Given the description of an element on the screen output the (x, y) to click on. 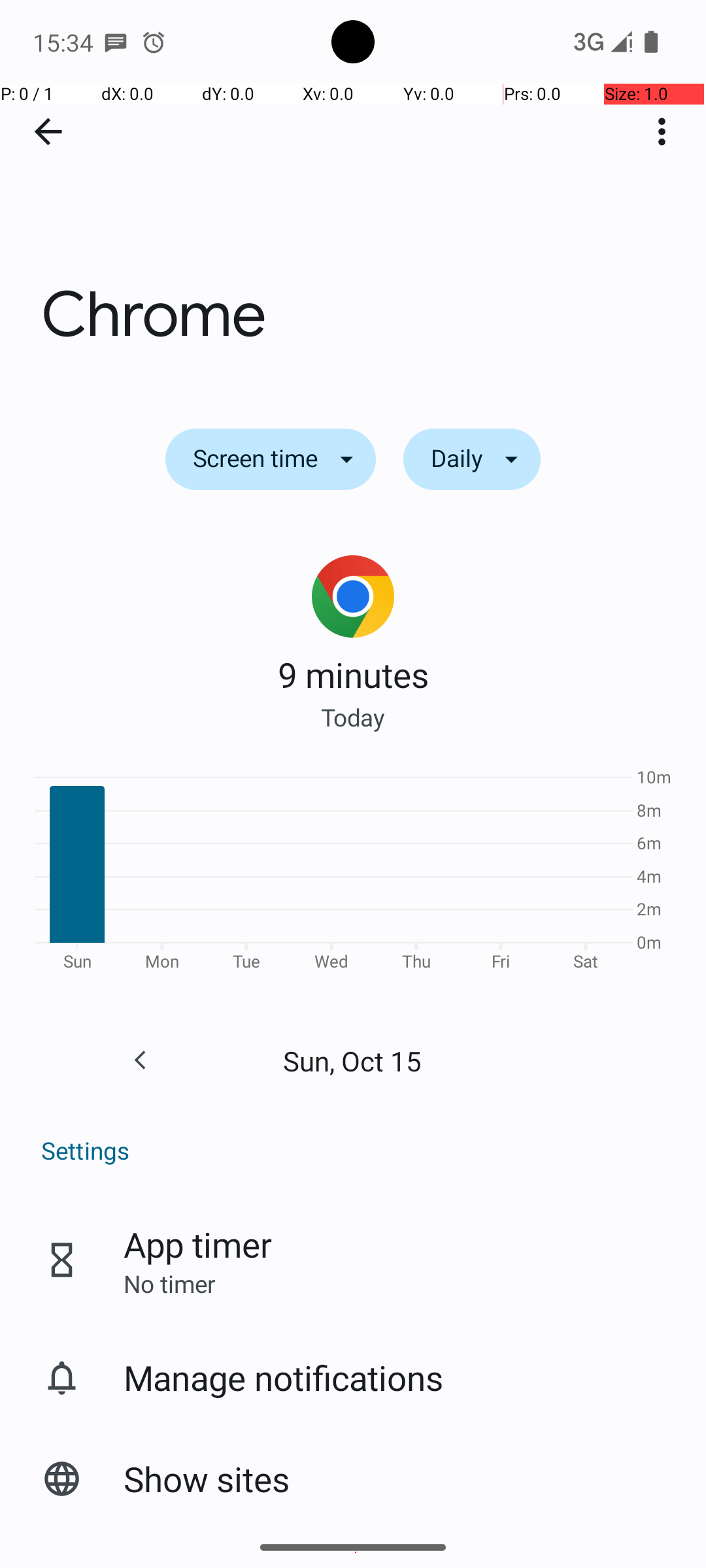
9 minutes Element type: android.widget.TextView (353, 674)
Bar Chart. Showing App usage data with 7 data points. Element type: android.view.ViewGroup (353, 873)
App timer Element type: android.widget.TextView (197, 1244)
No timer Element type: android.widget.TextView (169, 1283)
Show sites Element type: android.widget.TextView (206, 1478)
